Given the description of an element on the screen output the (x, y) to click on. 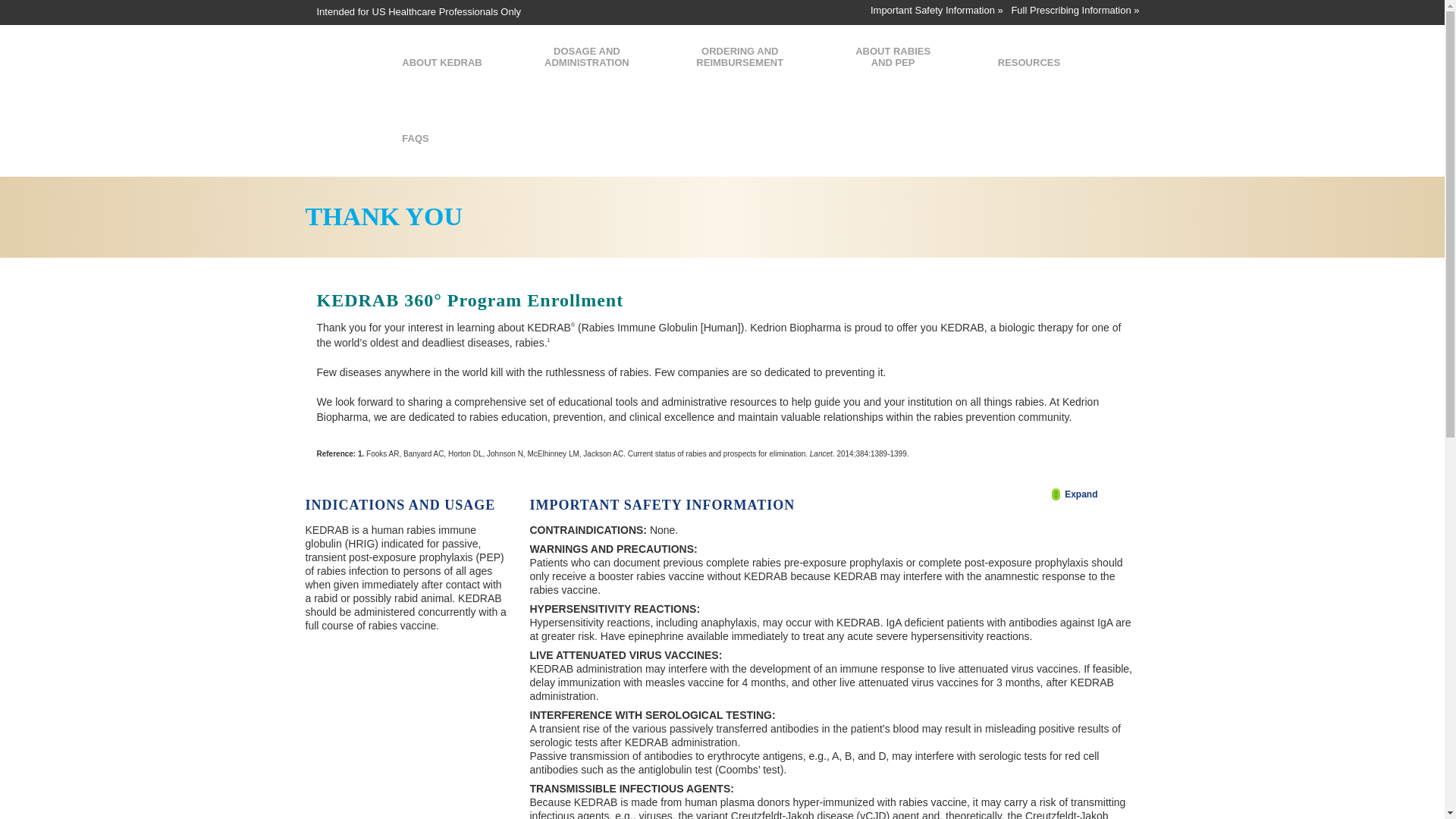
DOSAGE AND ADMINISTRATION (586, 62)
RESOURCES (1029, 62)
ABOUT RABIES AND PEP (893, 62)
ABOUT KEDRAB (441, 62)
ORDERING AND REIMBURSEMENT (740, 62)
